Given the description of an element on the screen output the (x, y) to click on. 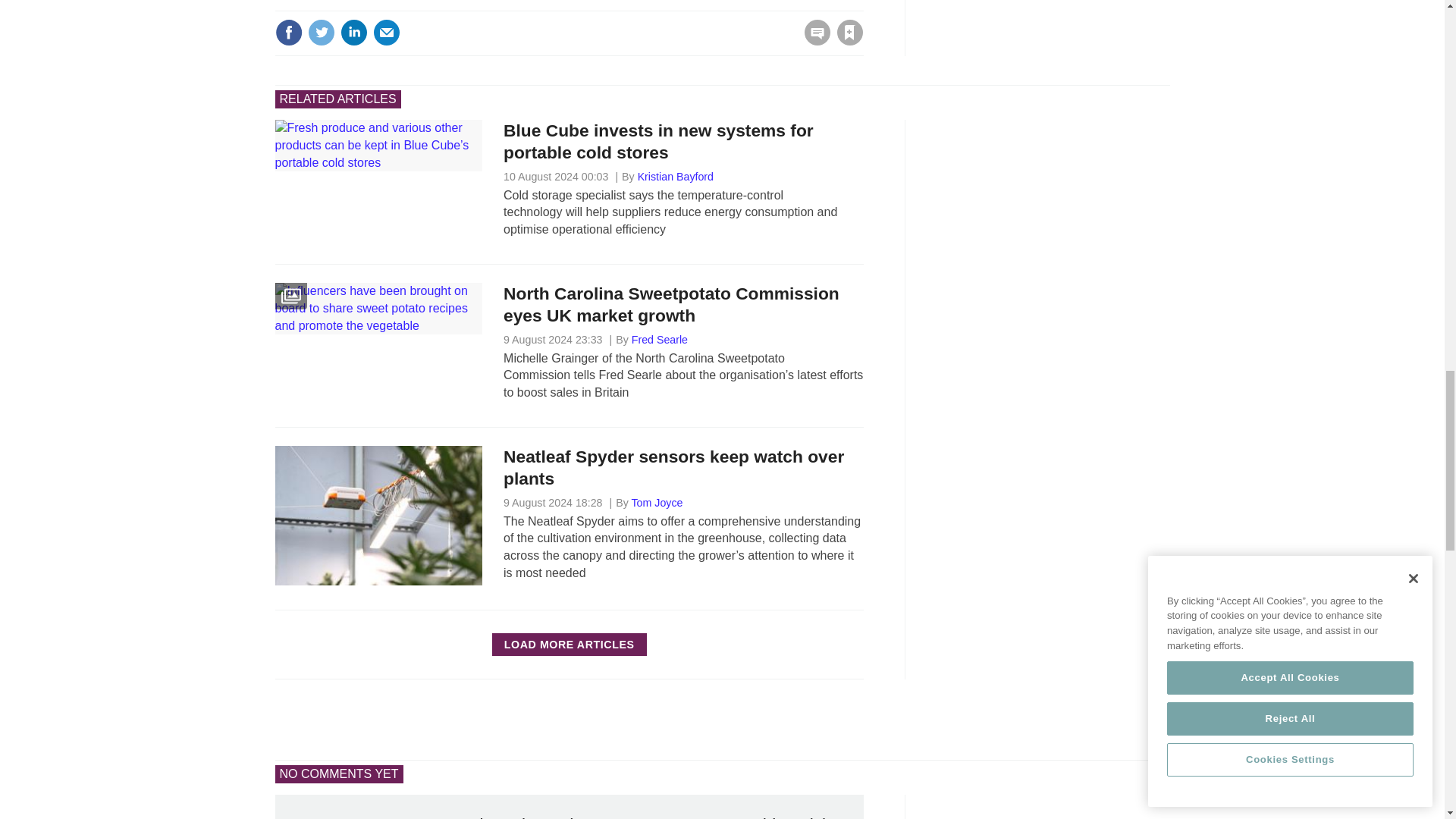
Share this on Twitter (320, 31)
Share this on Facebook (288, 31)
No comments (812, 41)
Share this on Linked in (352, 31)
Email this article (386, 31)
